Given the description of an element on the screen output the (x, y) to click on. 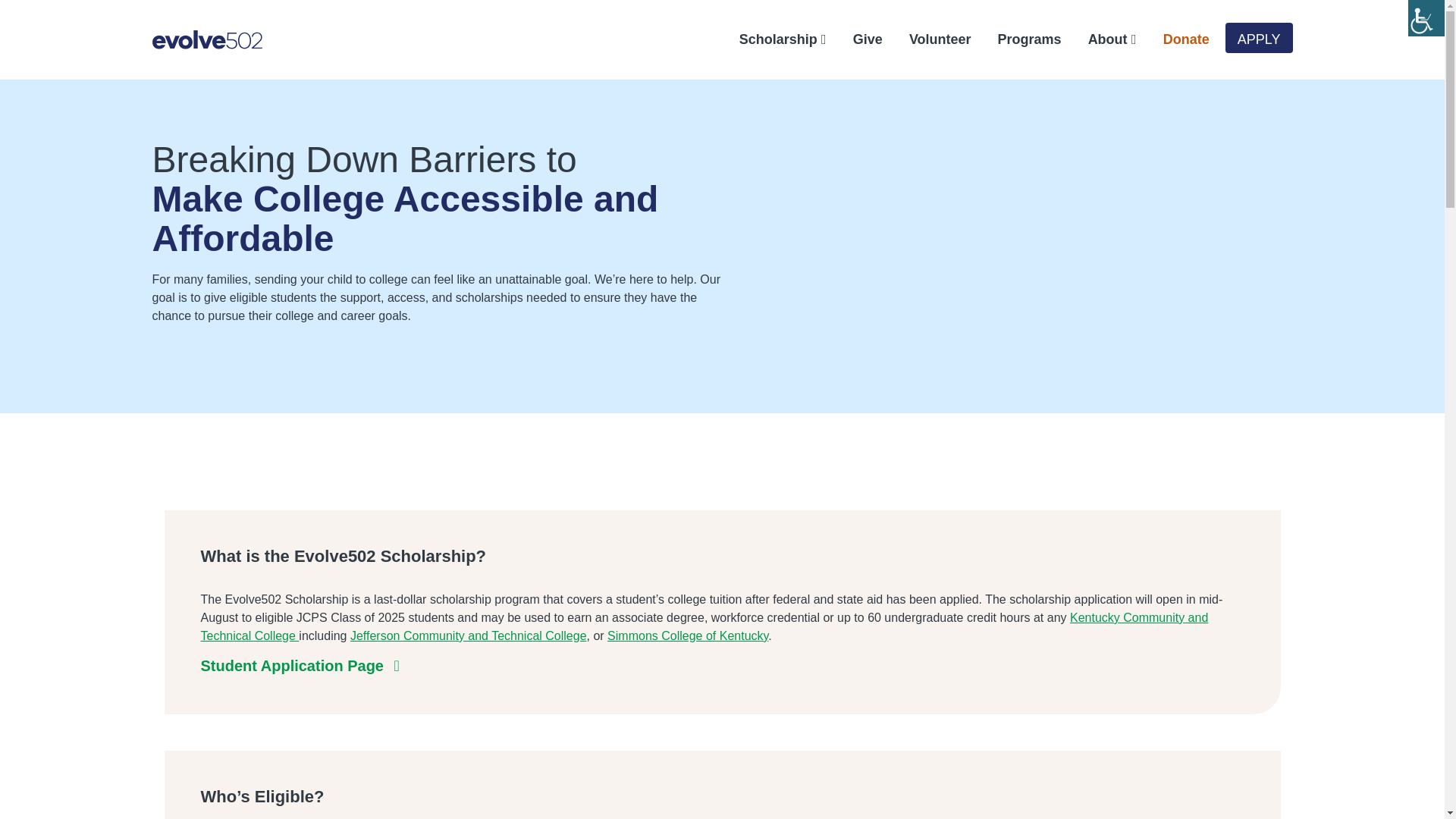
Volunteer (930, 39)
Donate (1176, 39)
About (1102, 39)
APPLY (1258, 37)
Programs (1020, 39)
Scholarship (772, 39)
Donation (1176, 39)
Give (857, 39)
